Given the description of an element on the screen output the (x, y) to click on. 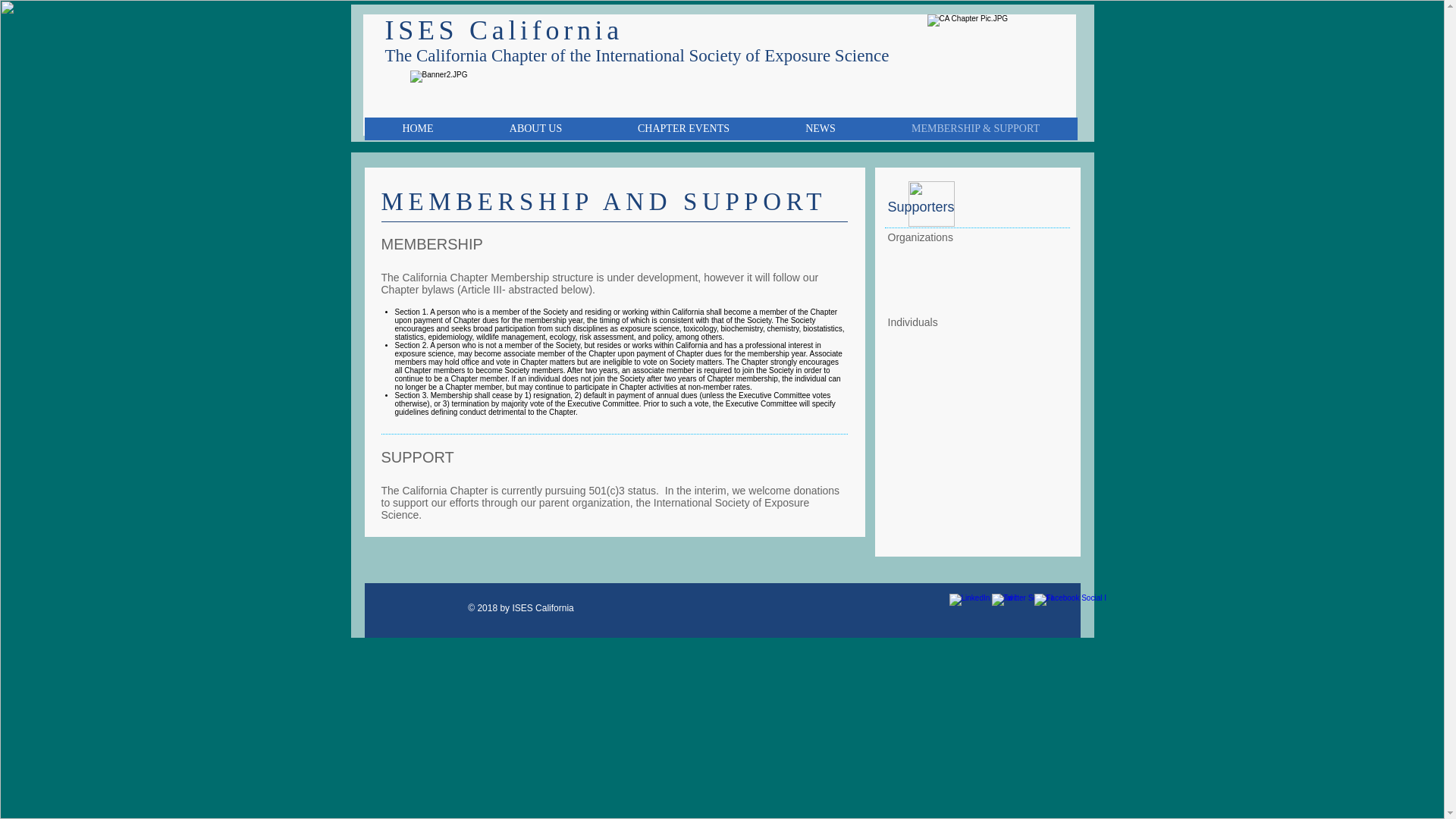
CHAPTER EVENTS (682, 128)
NEWS (820, 128)
ABOUT US (535, 128)
HOME (417, 128)
